Given the description of an element on the screen output the (x, y) to click on. 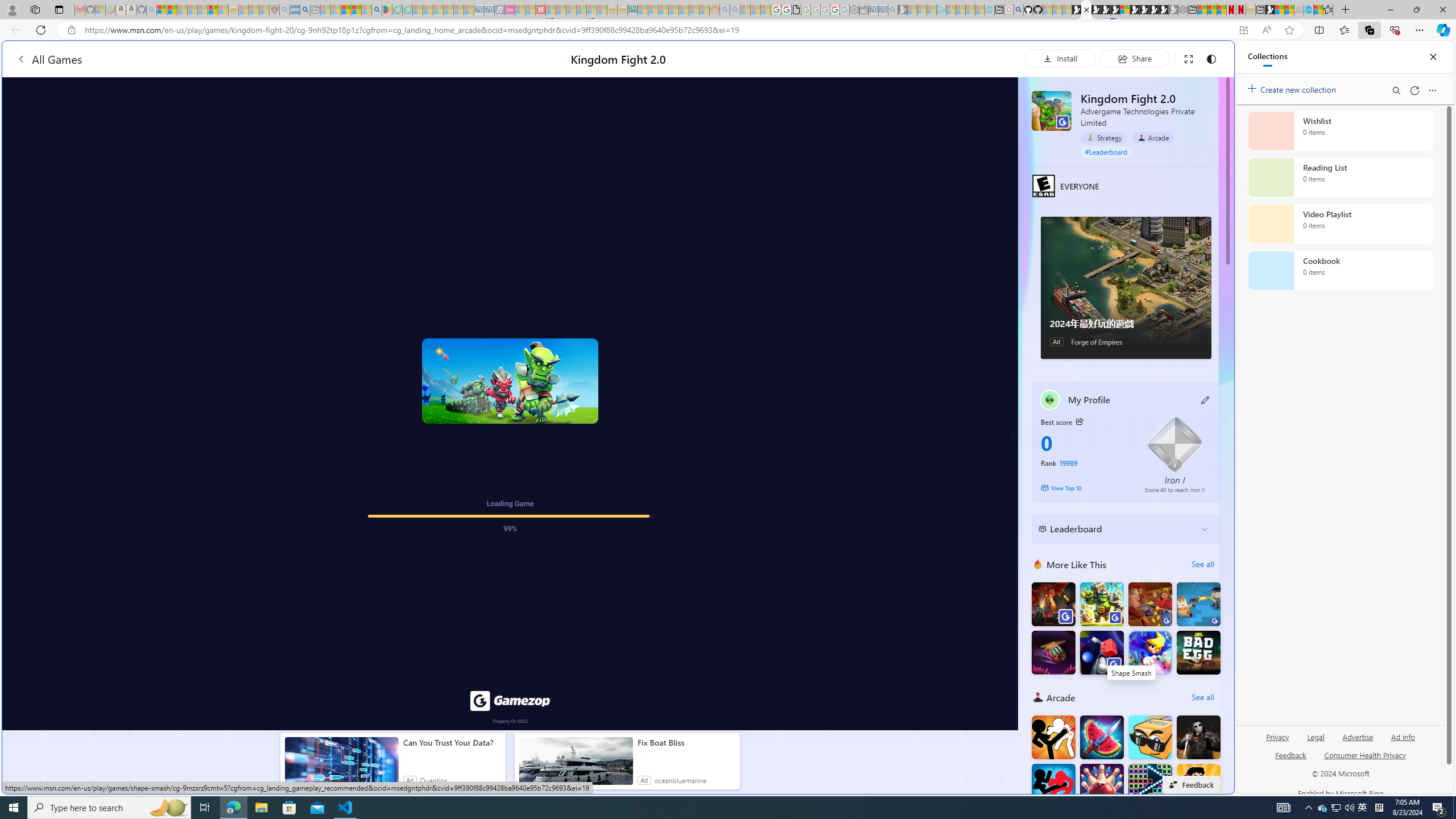
App available. Install Kingdom Fight 2.0 (1243, 29)
Settings - Sleeping (853, 9)
Full screen (1187, 58)
